Given the description of an element on the screen output the (x, y) to click on. 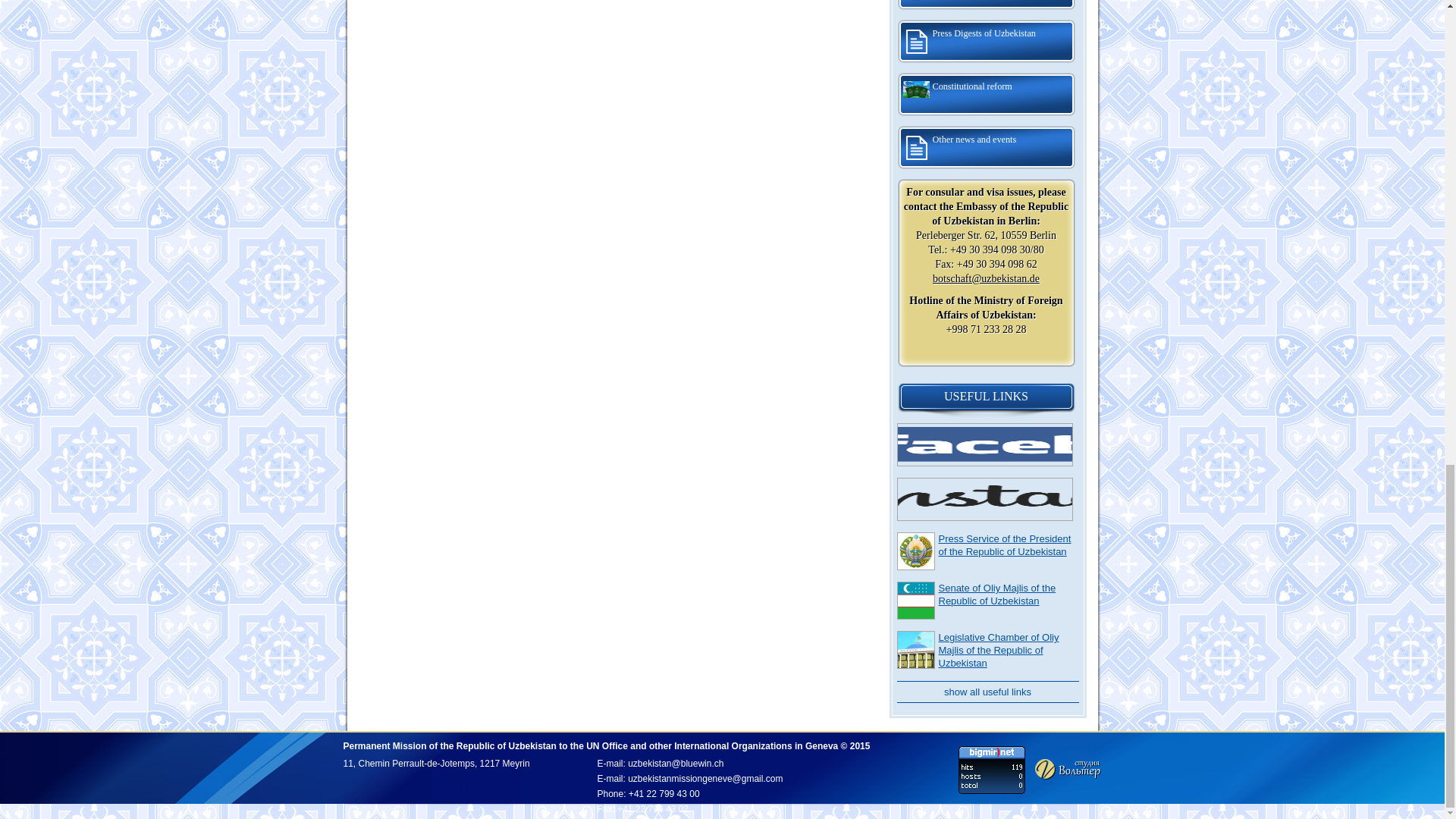
Constitutional reform (985, 94)
December 8 - Constitution Day of the Republic of Uzbekistan (985, 5)
Press Service of the President of the Republic of Uzbekistan (1005, 545)
Press Digests of Uzbekistan (985, 41)
Other news and events (985, 147)
